Given the description of an element on the screen output the (x, y) to click on. 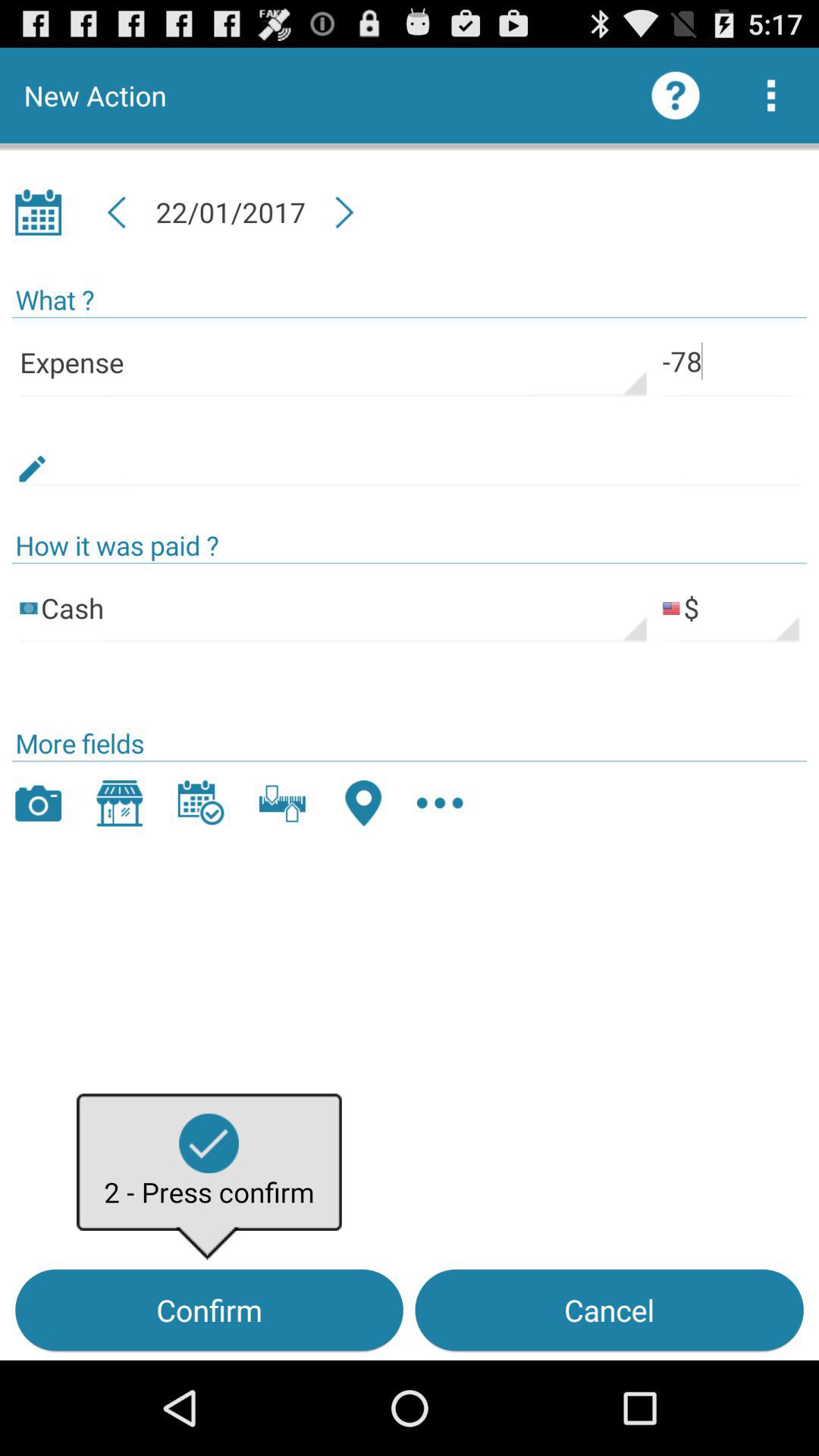
write text (409, 451)
